Given the description of an element on the screen output the (x, y) to click on. 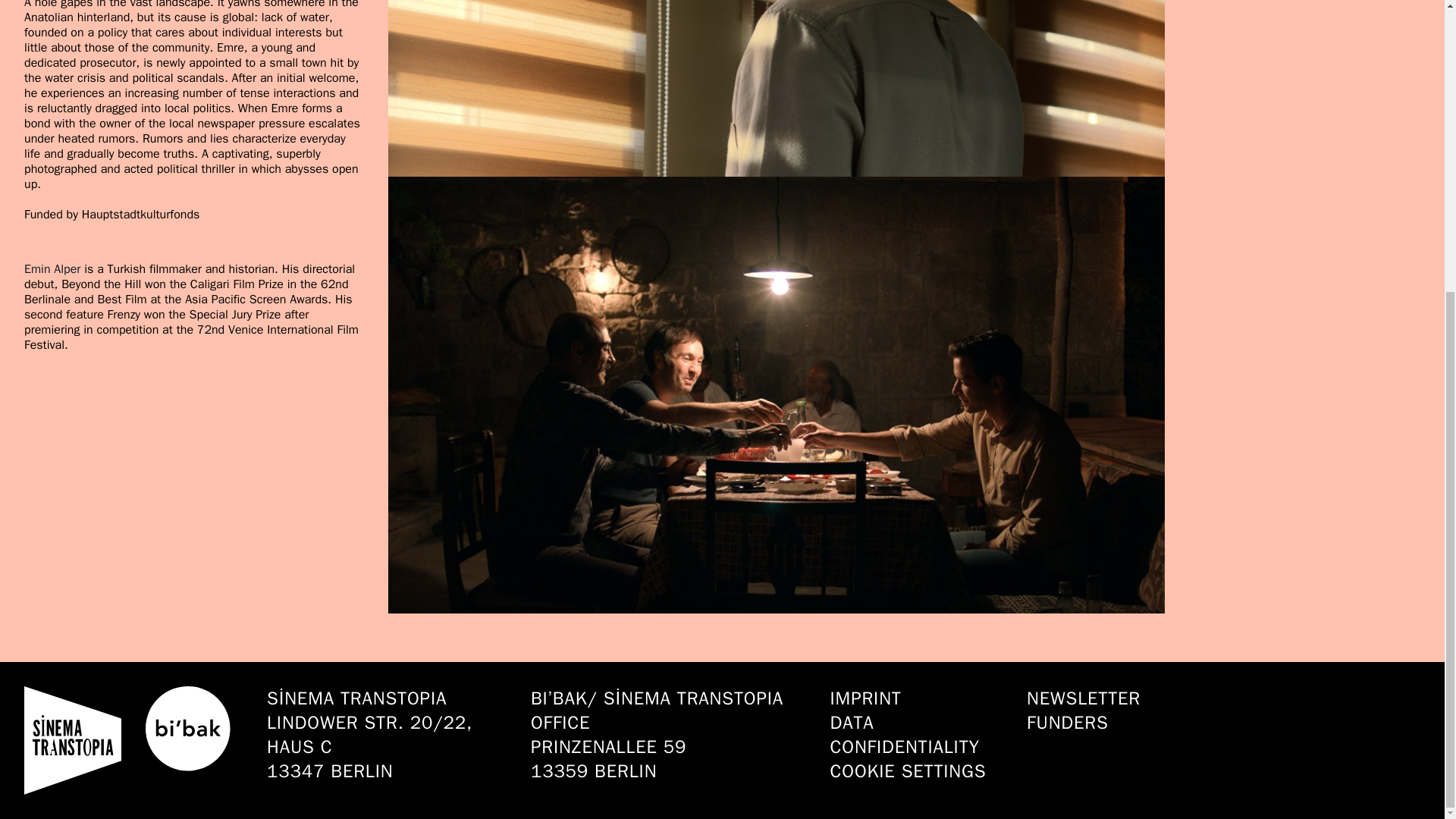
FUNDERS (1083, 722)
COOKIE SETTINGS (916, 770)
IMPRINT (916, 698)
NEWSLETTER (1083, 698)
DATA CONFIDENTIALITY (916, 734)
